Given the description of an element on the screen output the (x, y) to click on. 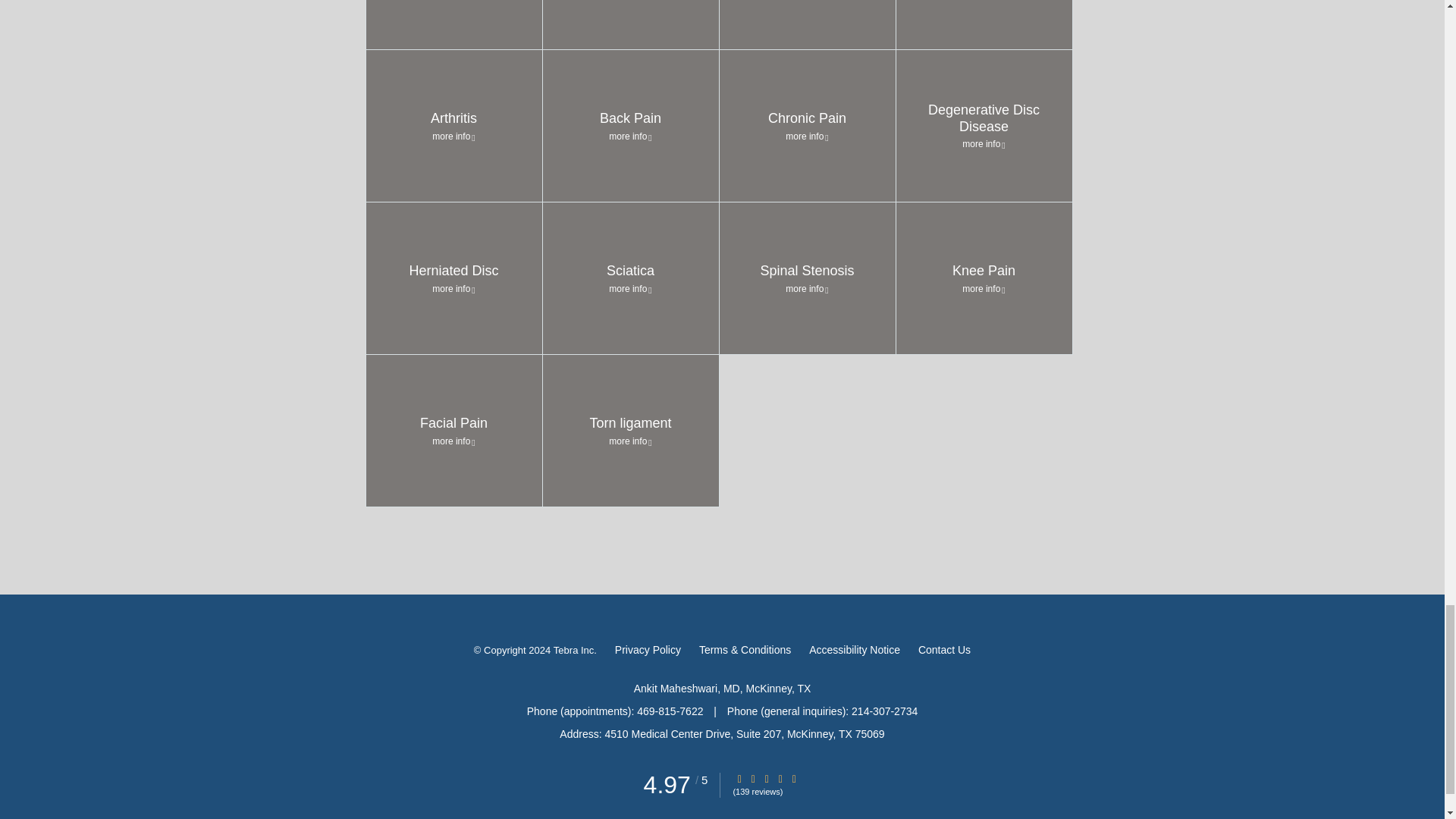
Star Rating (780, 778)
Star Rating (753, 778)
Star Rating (794, 778)
Star Rating (738, 778)
Star Rating (766, 778)
